Given the description of an element on the screen output the (x, y) to click on. 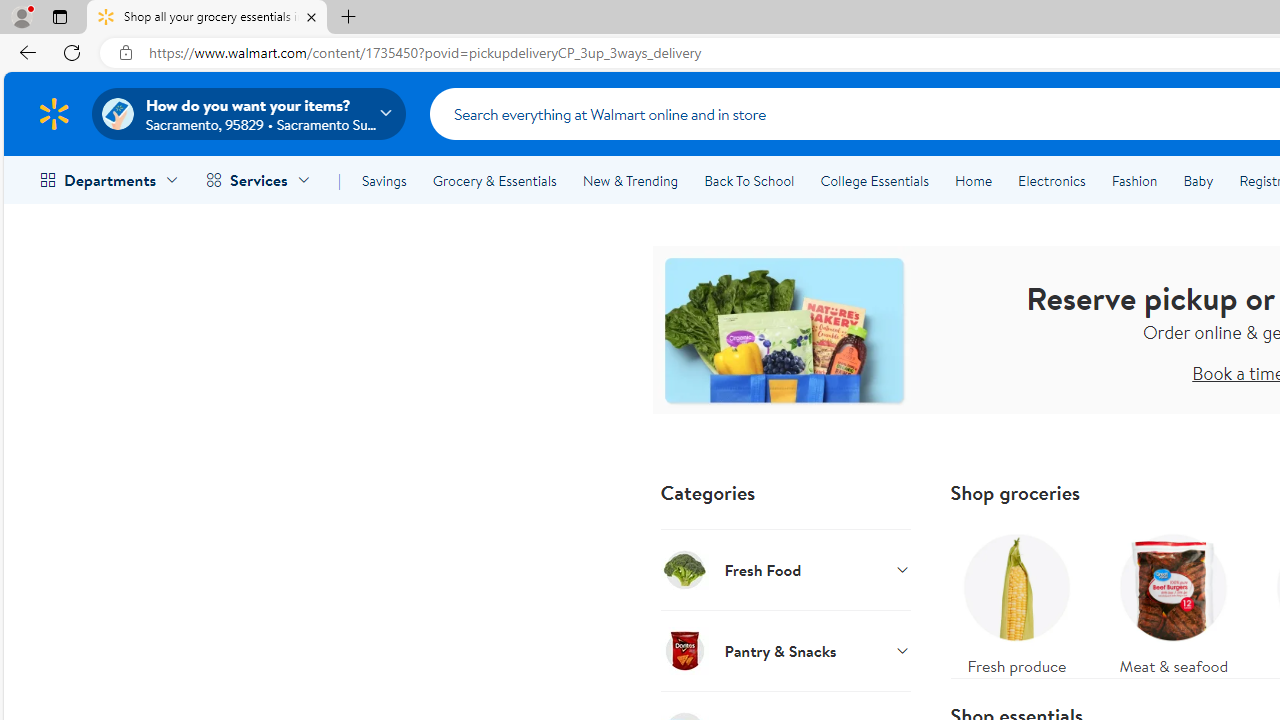
Fresh produce (1016, 599)
Meat & seafood (1174, 599)
New & Trending (630, 180)
Baby (1197, 180)
Back To School (749, 180)
Savings (384, 180)
College Essentials (874, 180)
Baby (1197, 180)
Electronics (1051, 180)
